Given the description of an element on the screen output the (x, y) to click on. 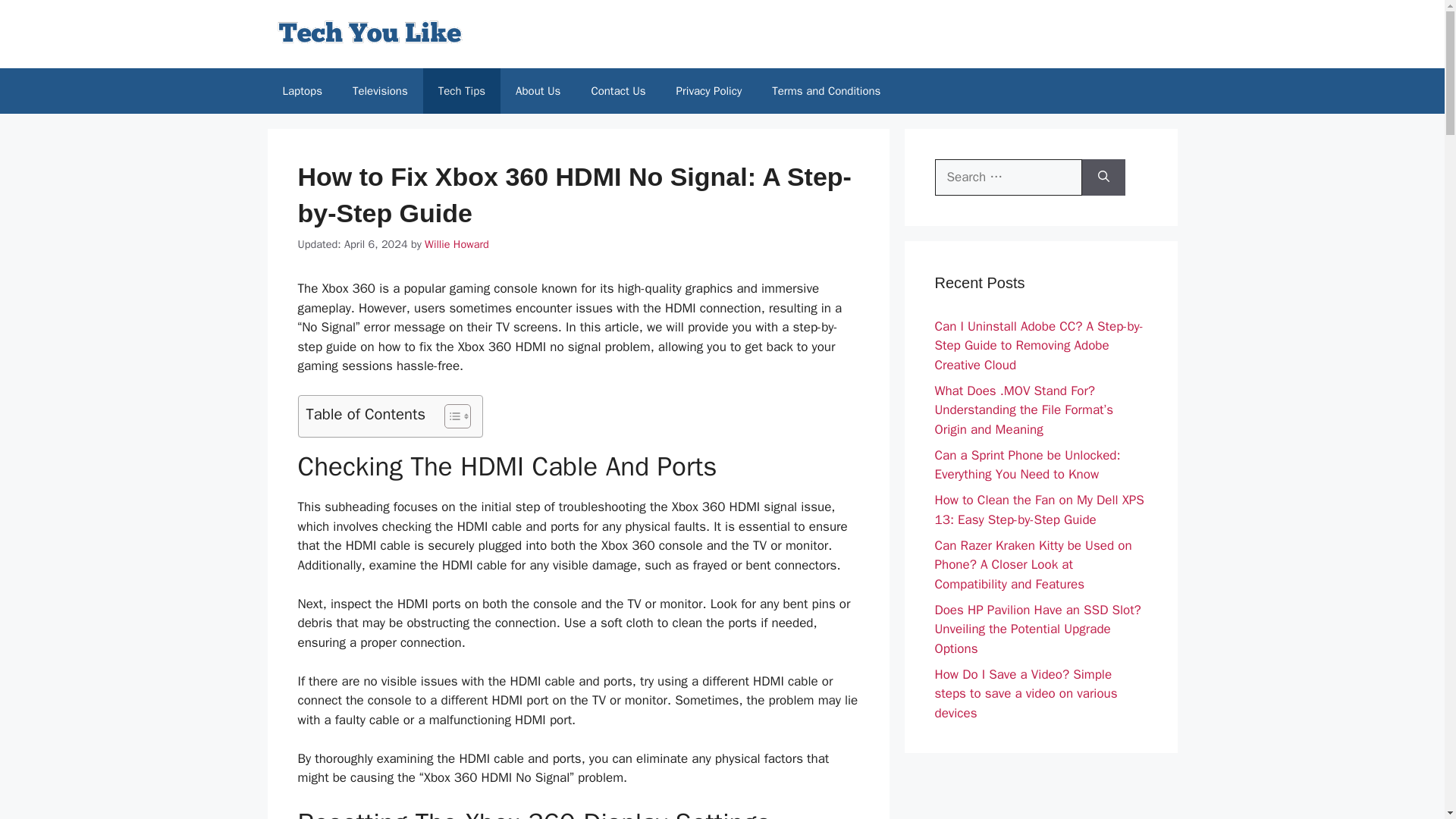
Televisions (380, 90)
Search for: (1007, 176)
Laptops (301, 90)
Terms and Conditions (826, 90)
Privacy Policy (709, 90)
About Us (537, 90)
Can a Sprint Phone be Unlocked: Everything You Need to Know (1026, 465)
Contact Us (618, 90)
Willie Howard (457, 243)
Tech Tips (461, 90)
View all posts by Willie Howard (457, 243)
